Given the description of an element on the screen output the (x, y) to click on. 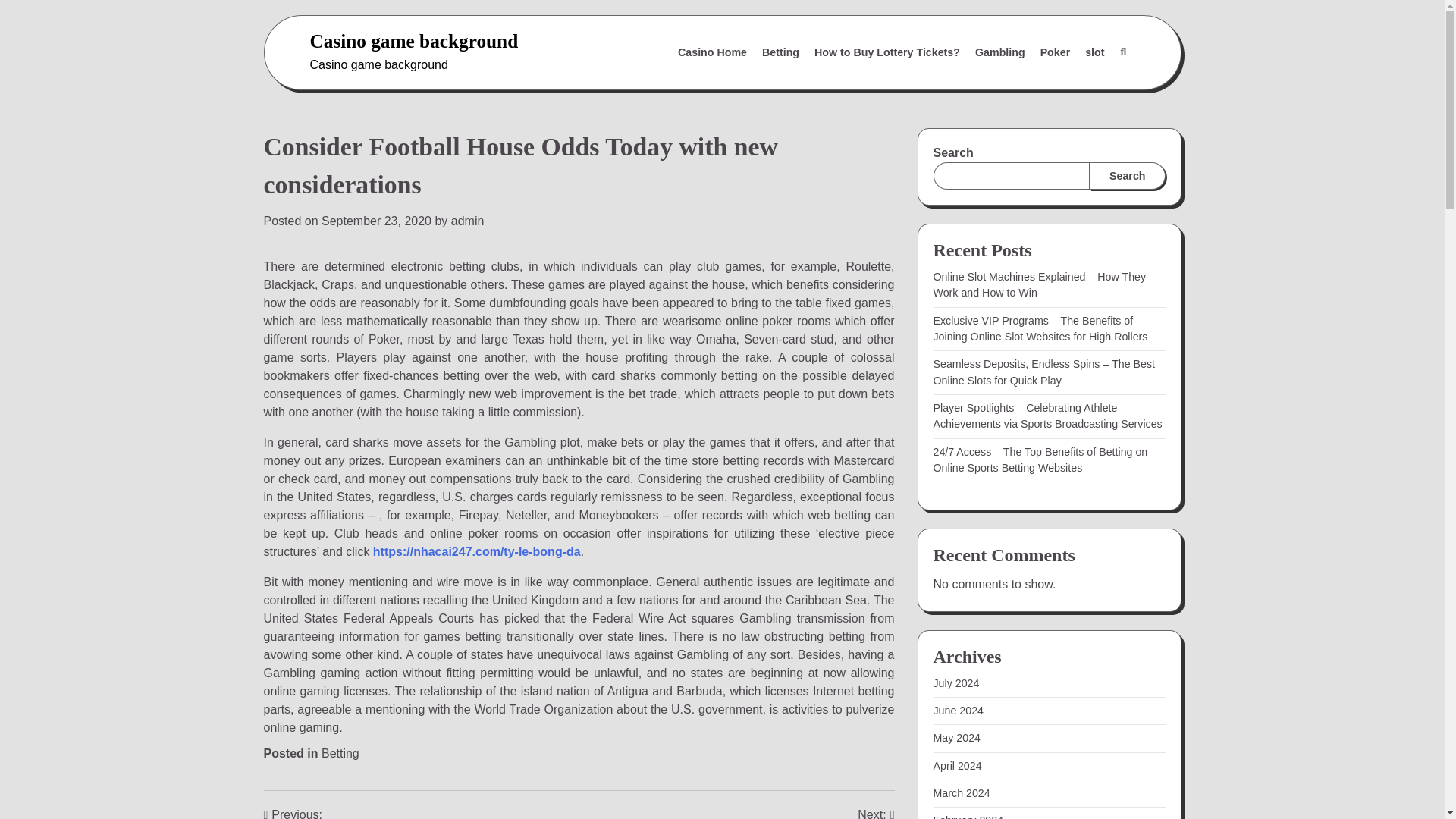
Casino Home (711, 51)
June 2024 (958, 710)
Betting (780, 51)
July 2024 (955, 683)
September 23, 2020 (375, 220)
slot (1094, 51)
Betting (340, 753)
How to Buy Lottery Tickets? (887, 51)
Gambling (1000, 51)
March 2024 (961, 793)
February 2024 (968, 816)
Casino game background (413, 40)
admin (467, 220)
Poker (1055, 51)
